Given the description of an element on the screen output the (x, y) to click on. 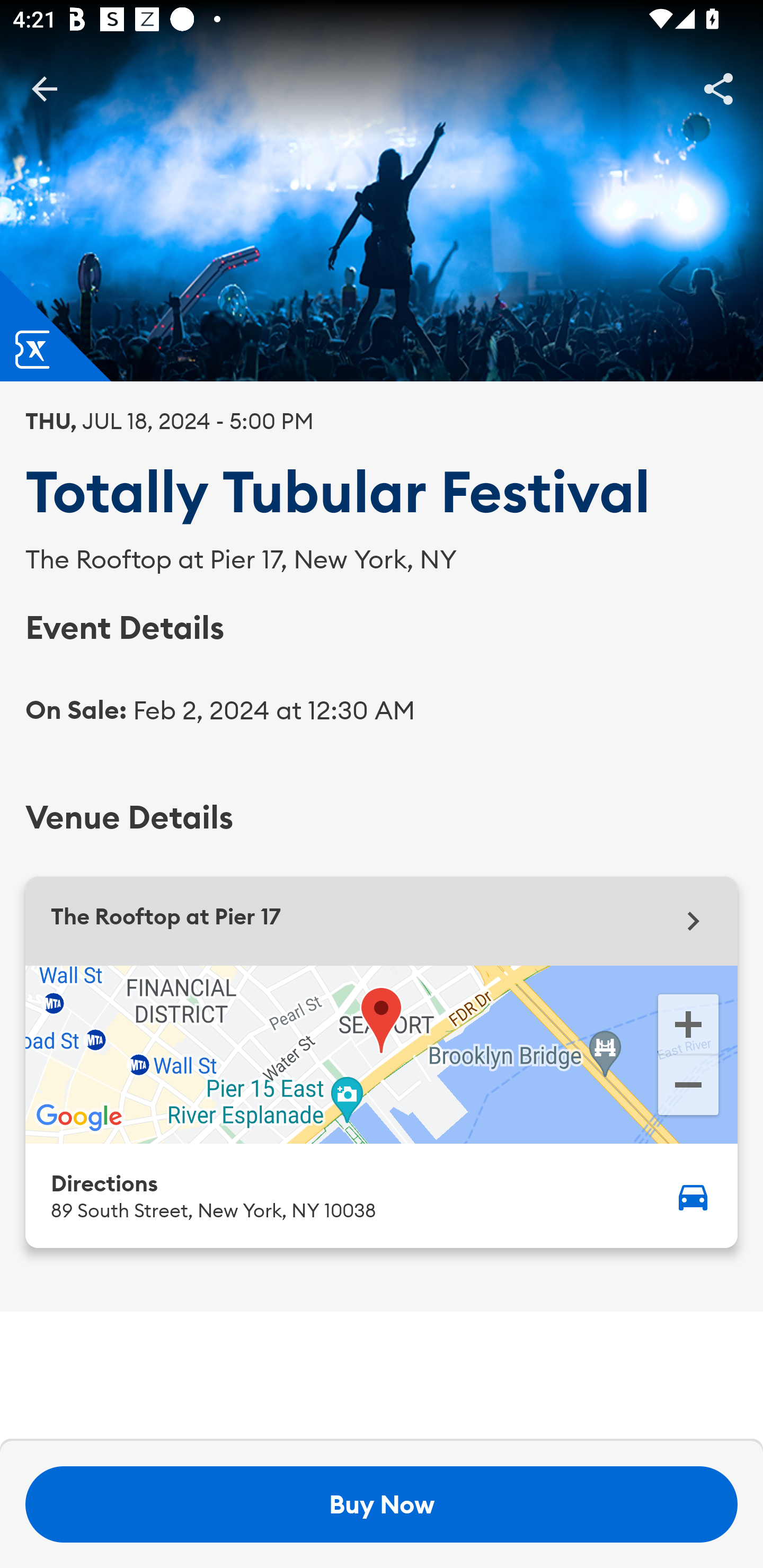
BackButton (44, 88)
Share (718, 88)
The Rooftop at Pier 17 (381, 920)
Zoom in (687, 1022)
Zoom out (687, 1087)
Directions 89 South Street, New York, NY 10038 (381, 1195)
Buy Now (381, 1504)
